Given the description of an element on the screen output the (x, y) to click on. 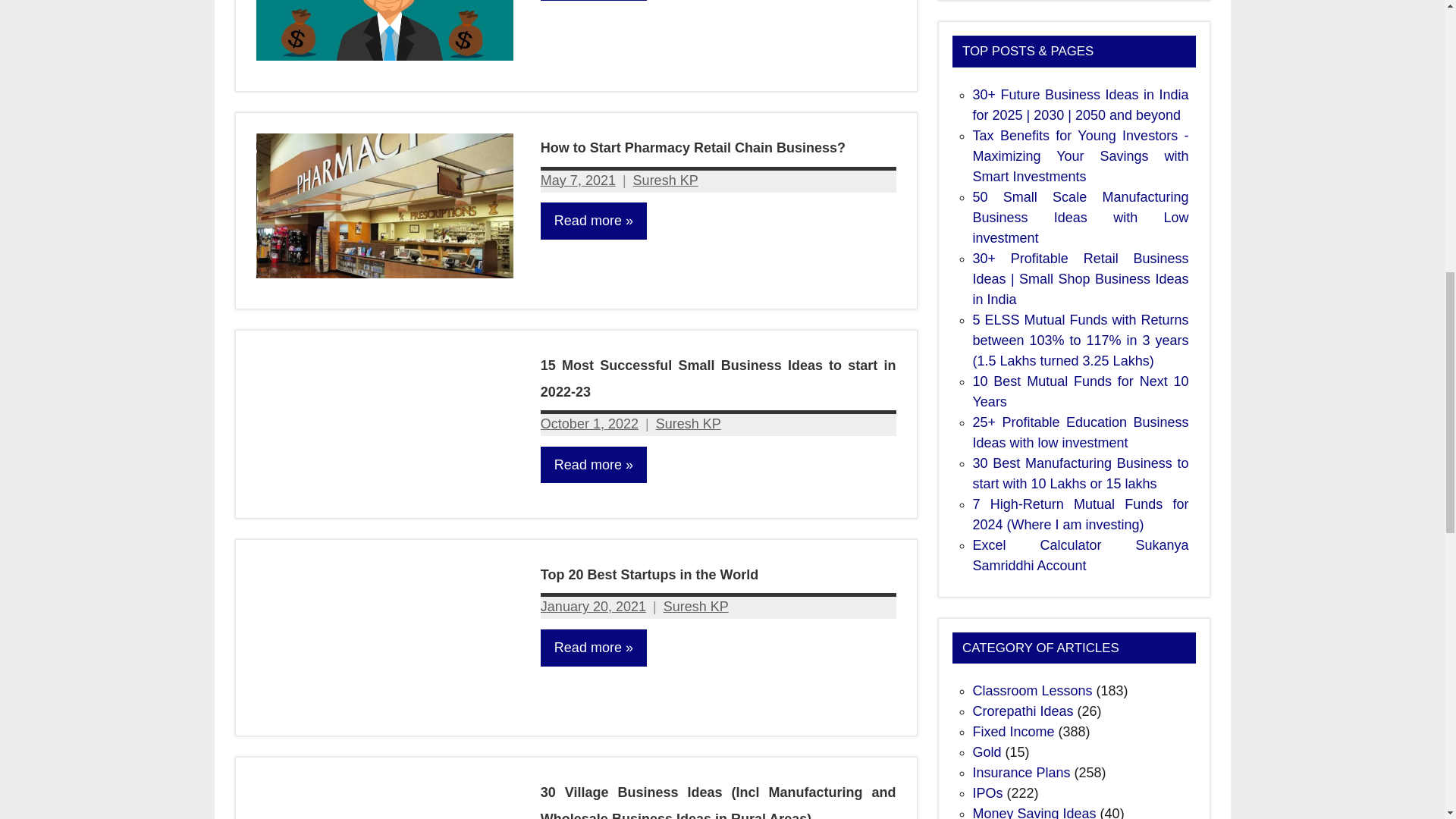
View all posts by Suresh KP (696, 606)
View all posts by Suresh KP (688, 423)
Small Business Ideas (578, 296)
How to Start Pharmacy Retail Chain Business? (692, 147)
15 Most Successful Small Business Ideas to start in 2022-23 (718, 378)
View all posts by Suresh KP (665, 180)
May 7, 2021 (577, 180)
Small Business Ideas (578, 57)
Read more (593, 220)
Suresh KP (665, 180)
